Given the description of an element on the screen output the (x, y) to click on. 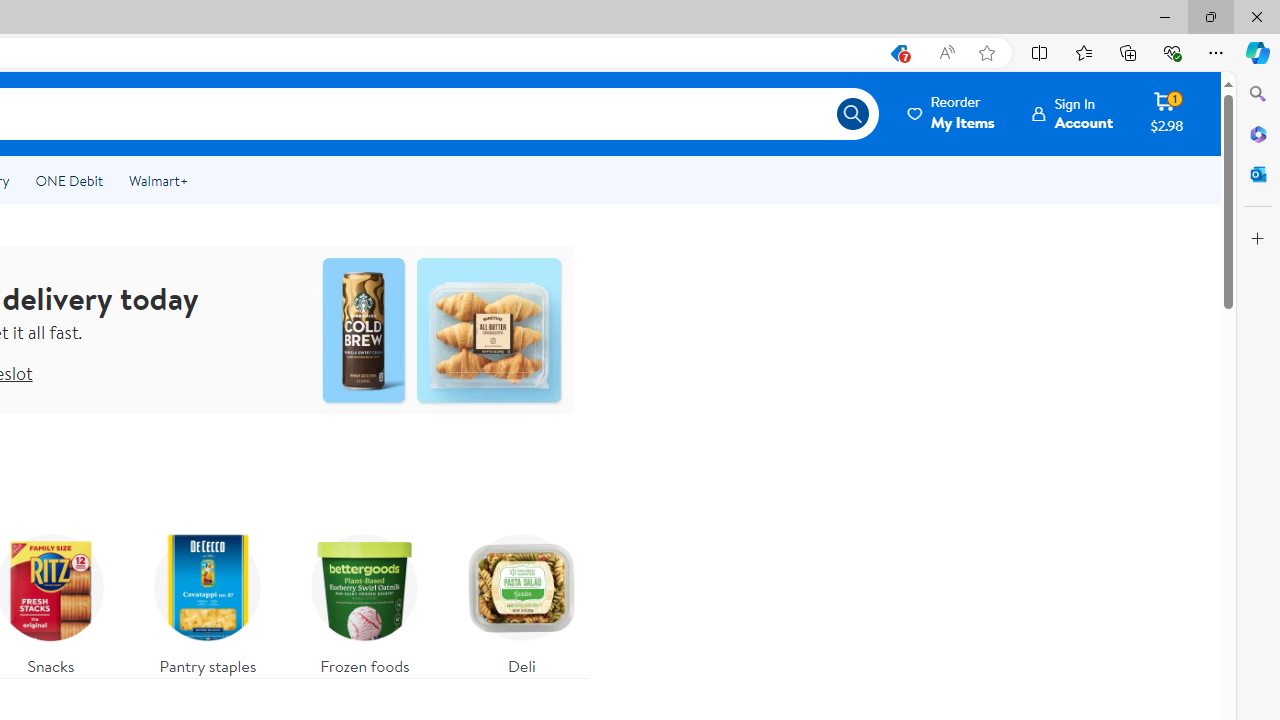
Cart contains 1 item Total Amount $2.98 (1166, 113)
ONE Debit (68, 180)
Settings and more (Alt+F) (1215, 52)
Microsoft 365 (1258, 133)
Collections (1128, 52)
ONE Debit (68, 180)
Browser essentials (1171, 52)
Pantry staples (207, 599)
Minimize (1164, 16)
Close (1256, 16)
Frozen foods (365, 599)
Reorder My Items (952, 113)
Search (1258, 94)
Copilot (Ctrl+Shift+.) (1258, 52)
